Given the description of an element on the screen output the (x, y) to click on. 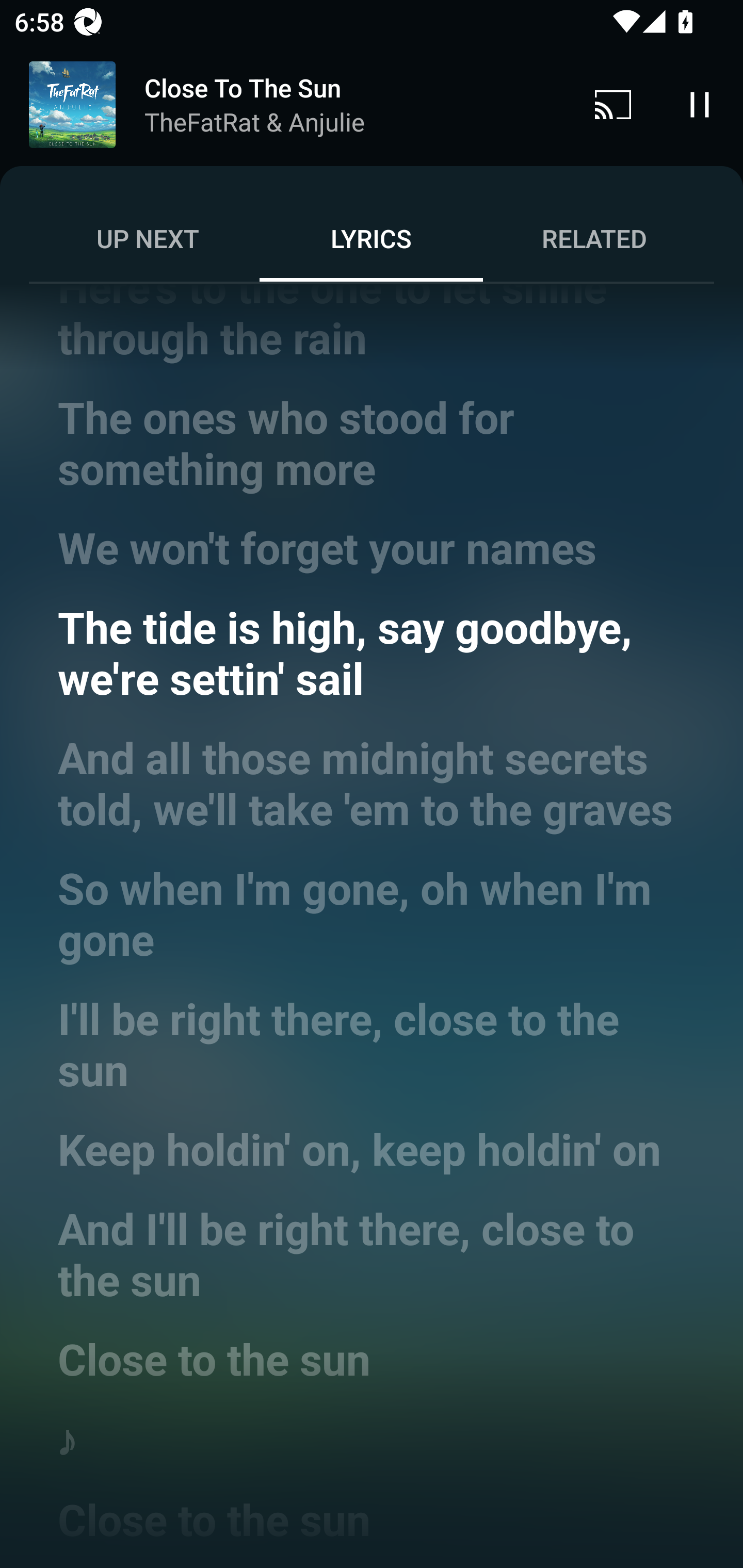
Close To The Sun TheFatRat & Anjulie (284, 104)
Cast. Disconnected (612, 104)
Pause video (699, 104)
Up next UP NEXT (147, 238)
Related RELATED (594, 238)
